Given the description of an element on the screen output the (x, y) to click on. 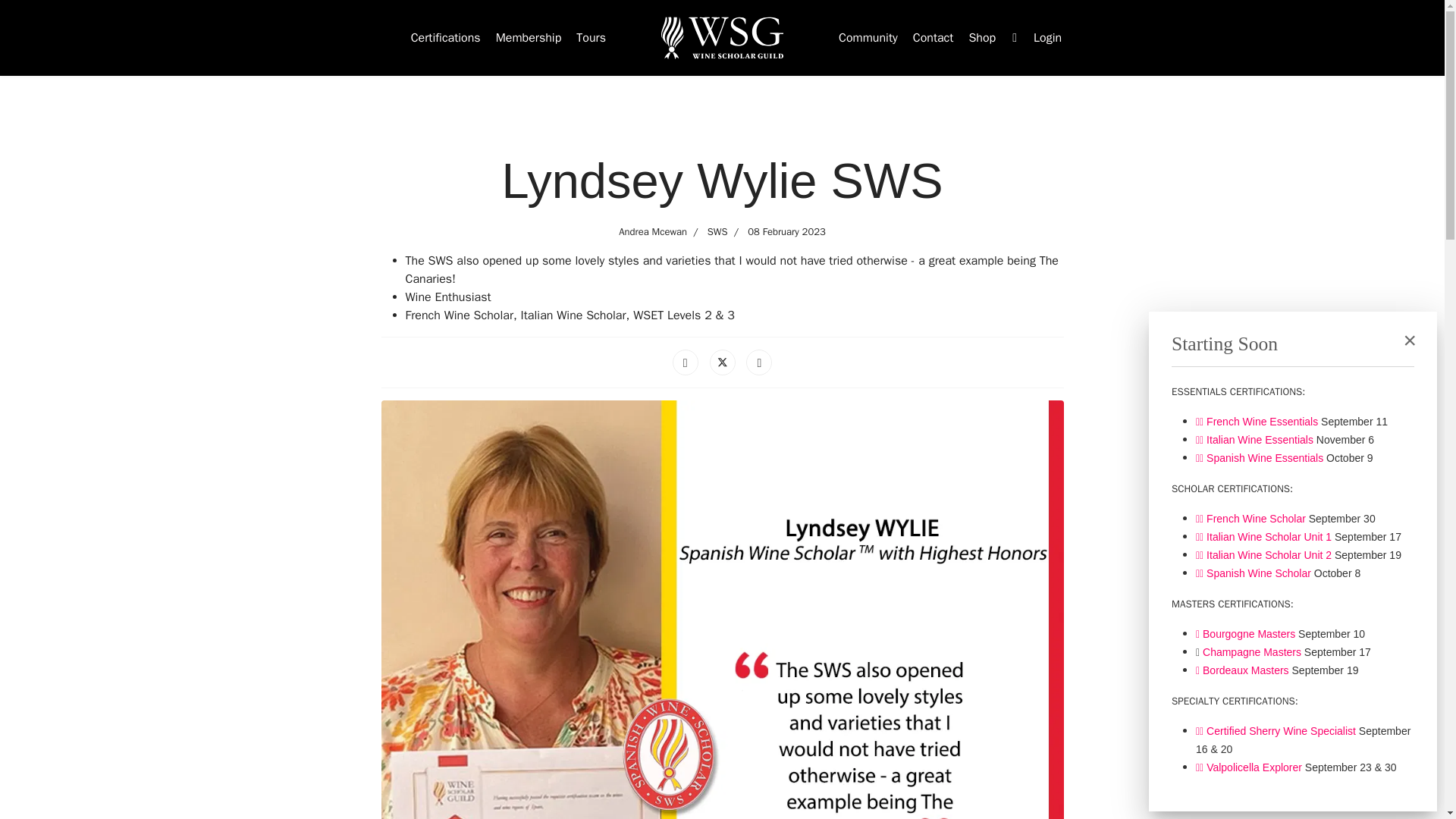
Certifications (445, 38)
Published: 08 February 2023 (776, 231)
Category: SWS (706, 231)
Facebook (685, 362)
LinkedIn (758, 362)
Written by: Andrea Mcewan (652, 231)
